Given the description of an element on the screen output the (x, y) to click on. 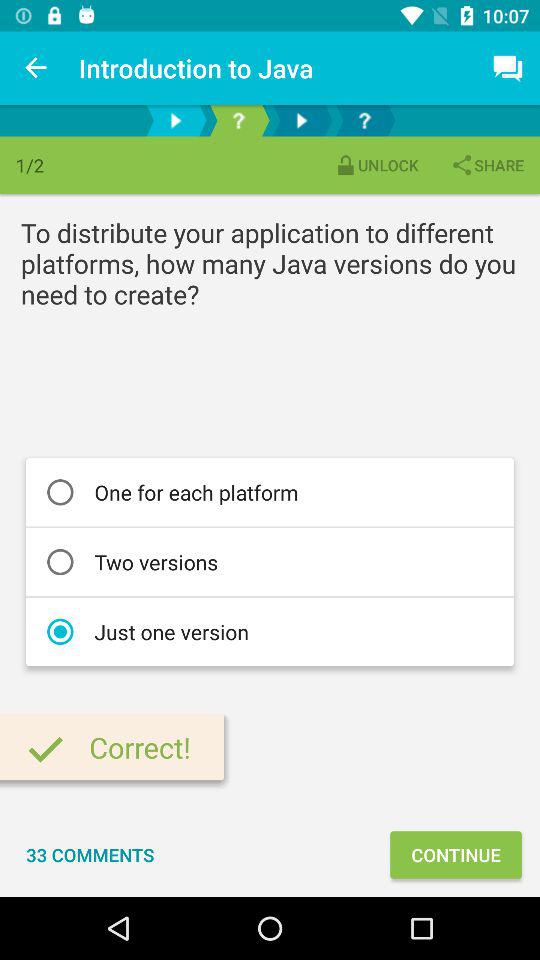
play the music (301, 120)
